Given the description of an element on the screen output the (x, y) to click on. 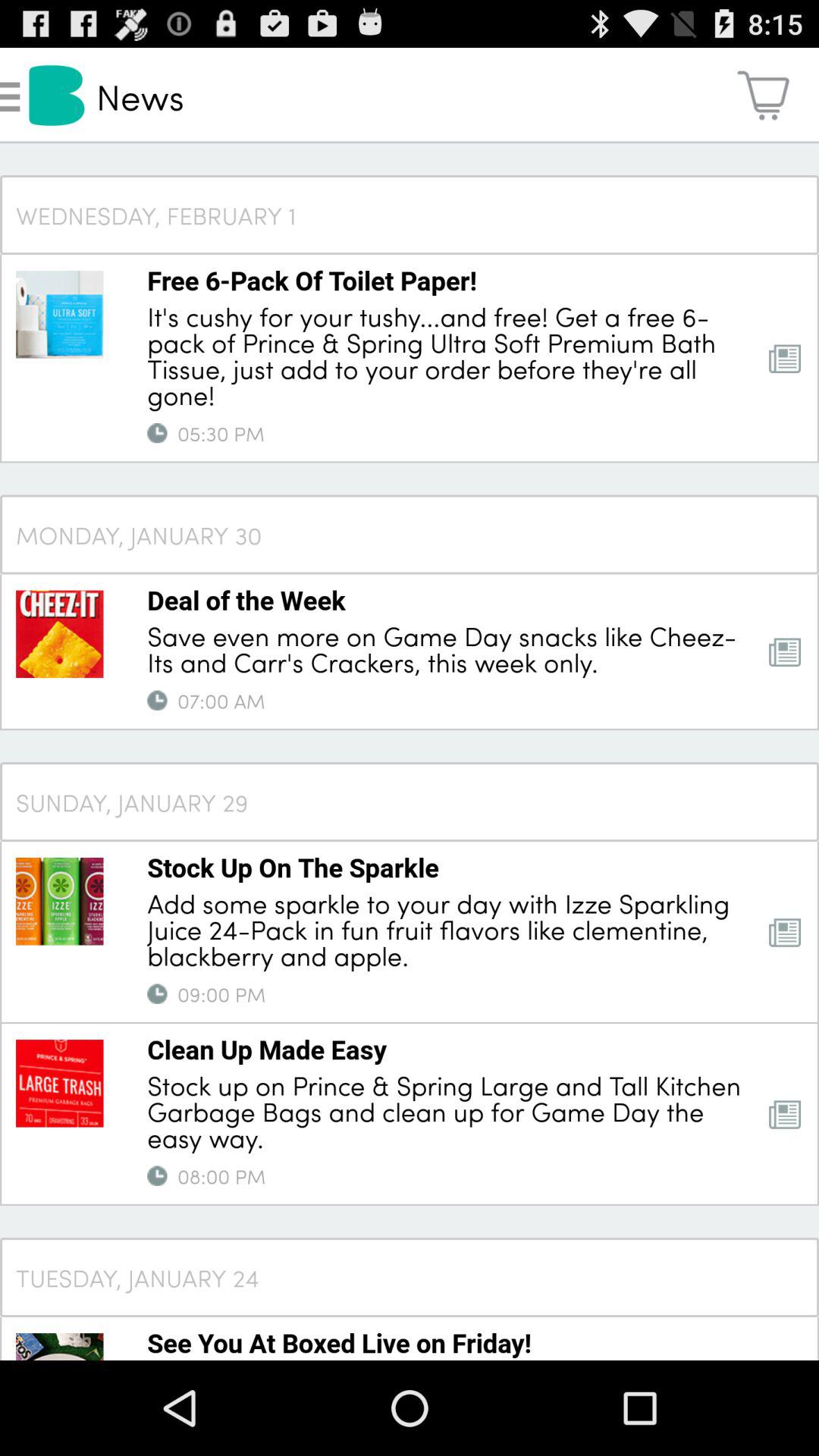
turn off the item below add some sparkle (157, 993)
